Given the description of an element on the screen output the (x, y) to click on. 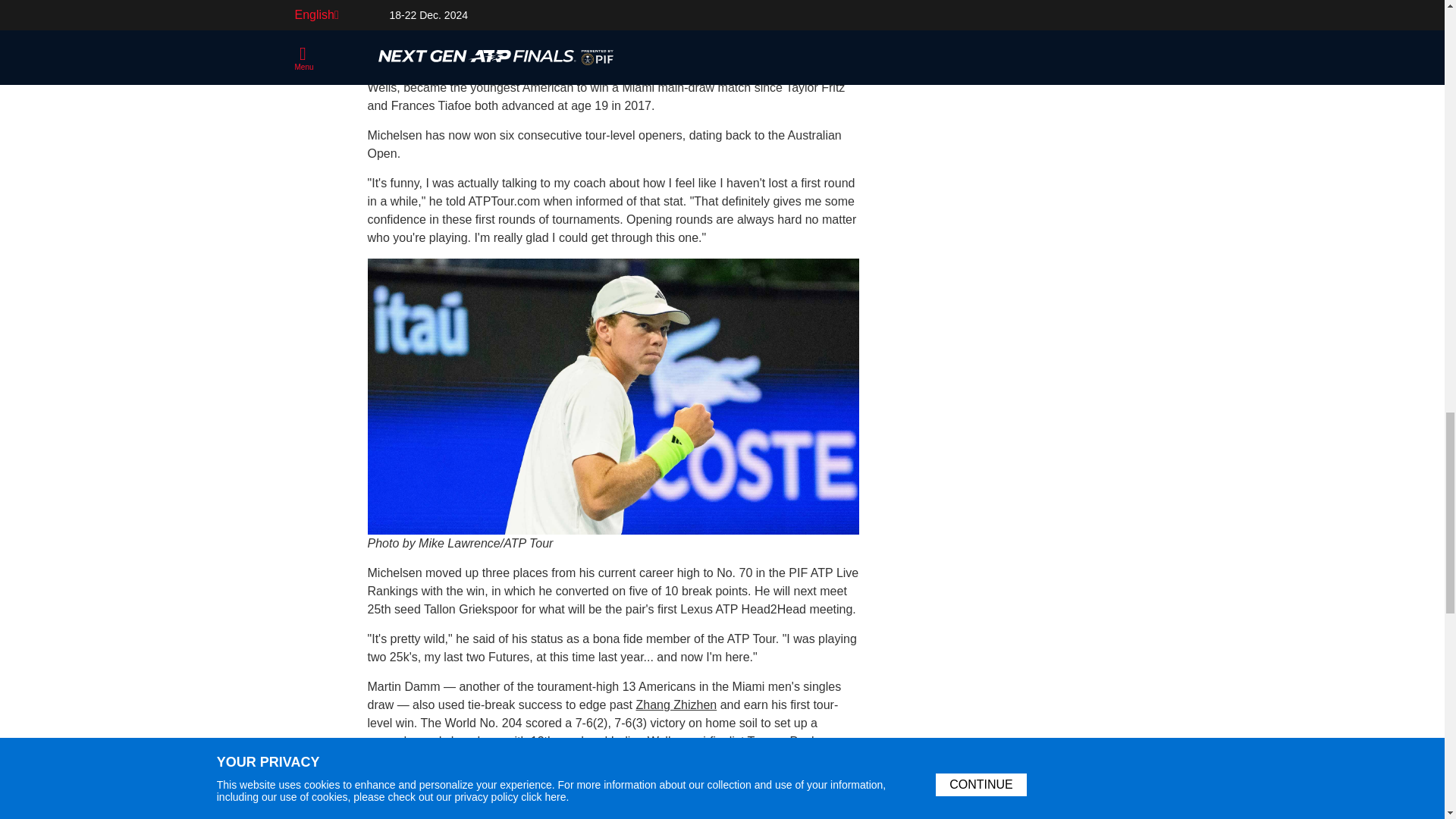
Zhang Zhizhen (675, 704)
